Given the description of an element on the screen output the (x, y) to click on. 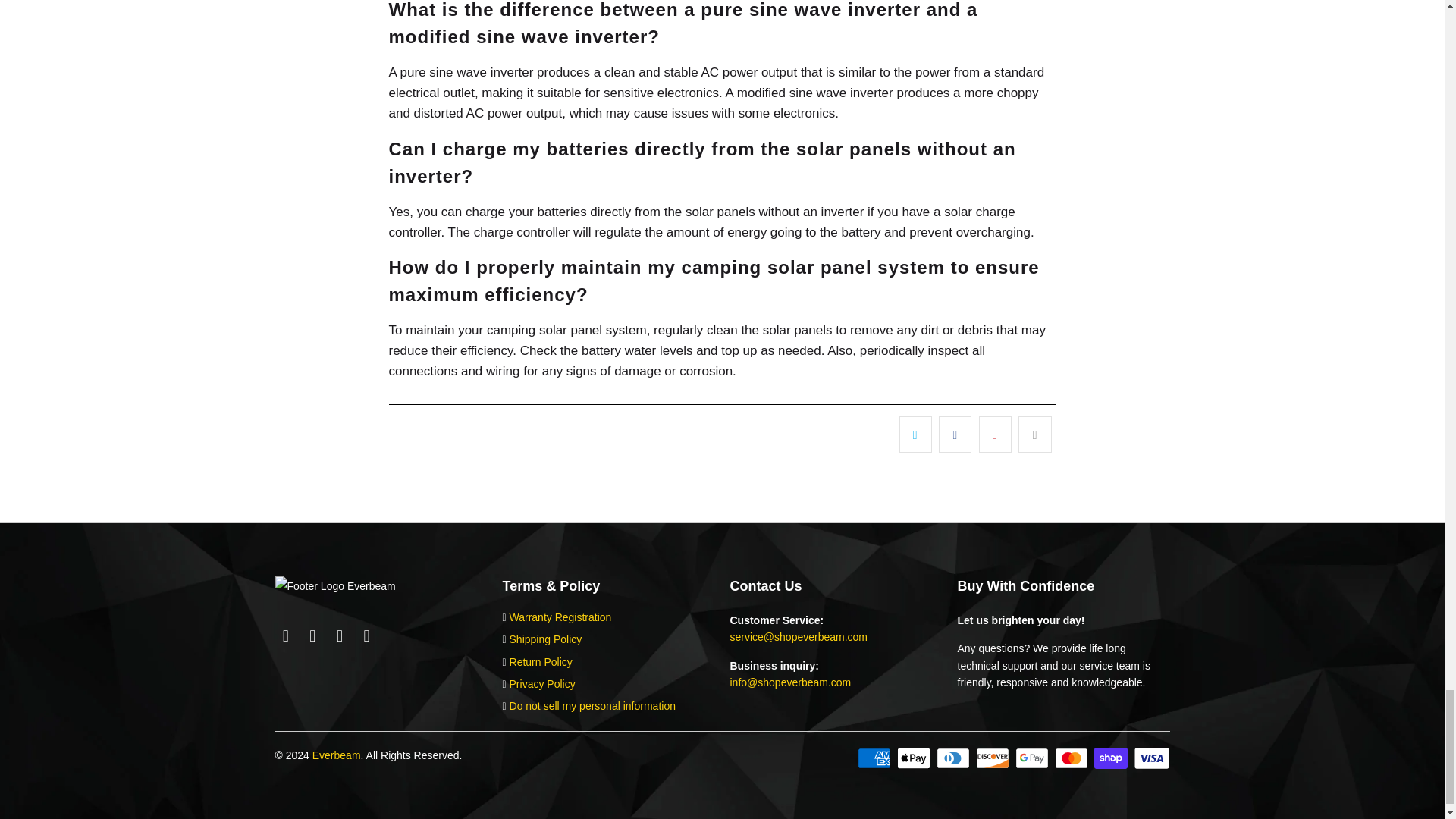
Google Pay (1032, 757)
Discover (993, 757)
Email Everbeam (366, 636)
Share this on Facebook (955, 434)
Mastercard (1072, 757)
Diners Club (954, 757)
Visa (1150, 757)
Everbeam on Facebook (286, 636)
Everbeam on Instagram (340, 636)
American Express (875, 757)
